Given the description of an element on the screen output the (x, y) to click on. 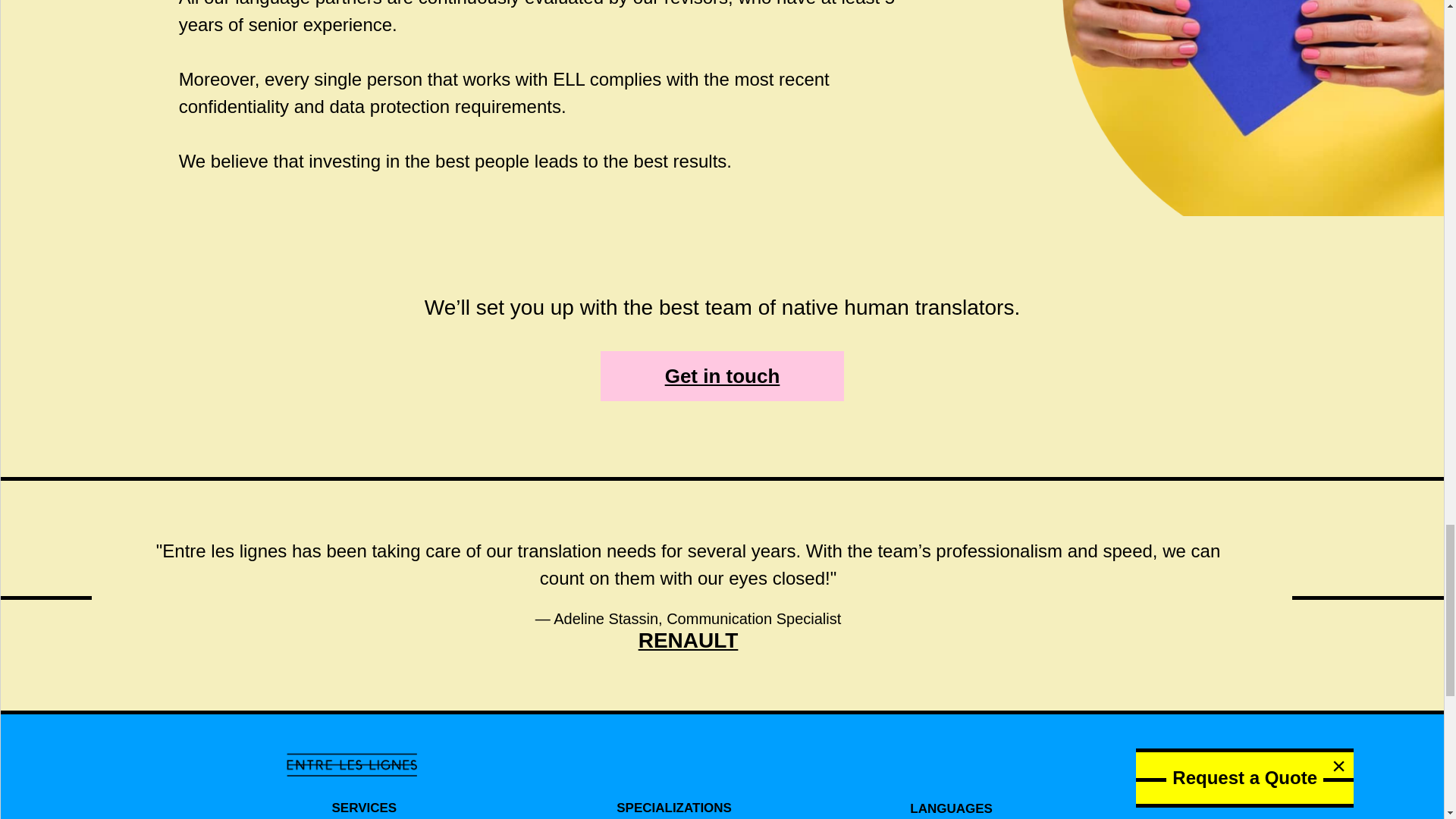
RENAULT (688, 639)
Get in touch (721, 376)
